Given the description of an element on the screen output the (x, y) to click on. 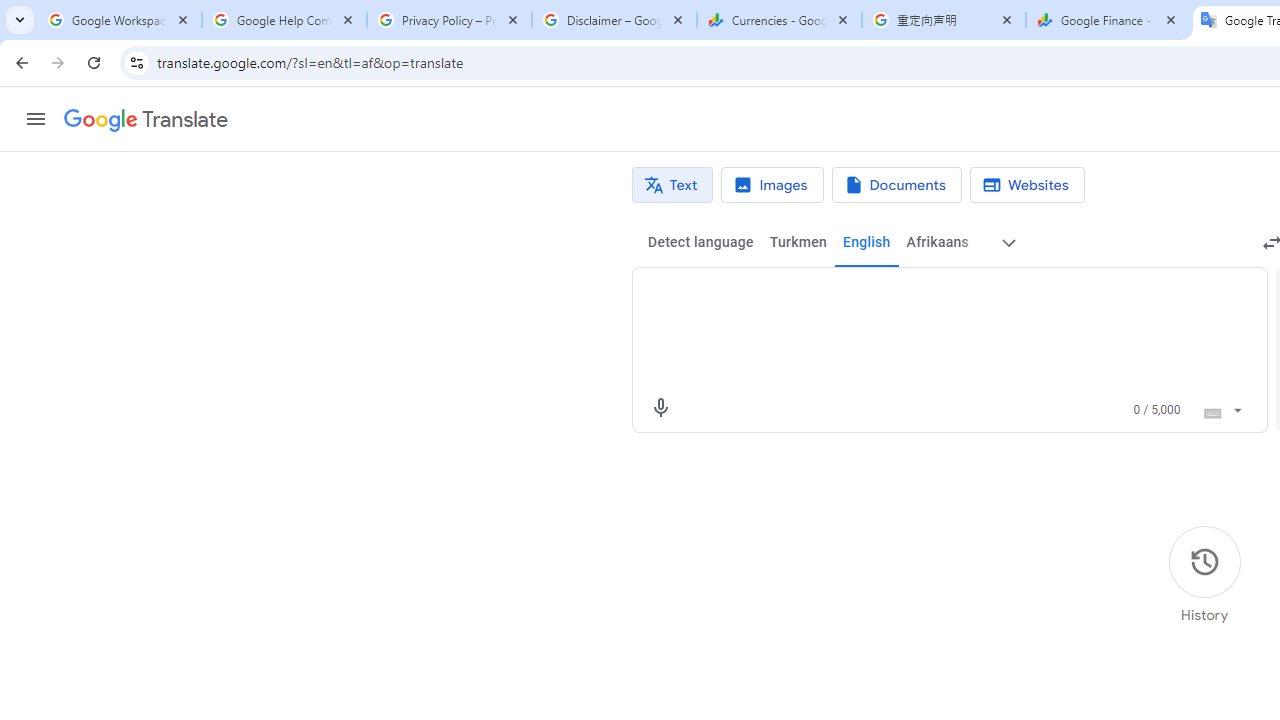
Show the Input Tools menu (1236, 407)
Currencies - Google Finance (779, 20)
Turkmen (797, 242)
0 of 5,000 characters used (1156, 410)
Detect language (699, 242)
Google Workspace Admin Community (119, 20)
Afrikaans (937, 242)
English (866, 242)
Source text (930, 295)
